Given the description of an element on the screen output the (x, y) to click on. 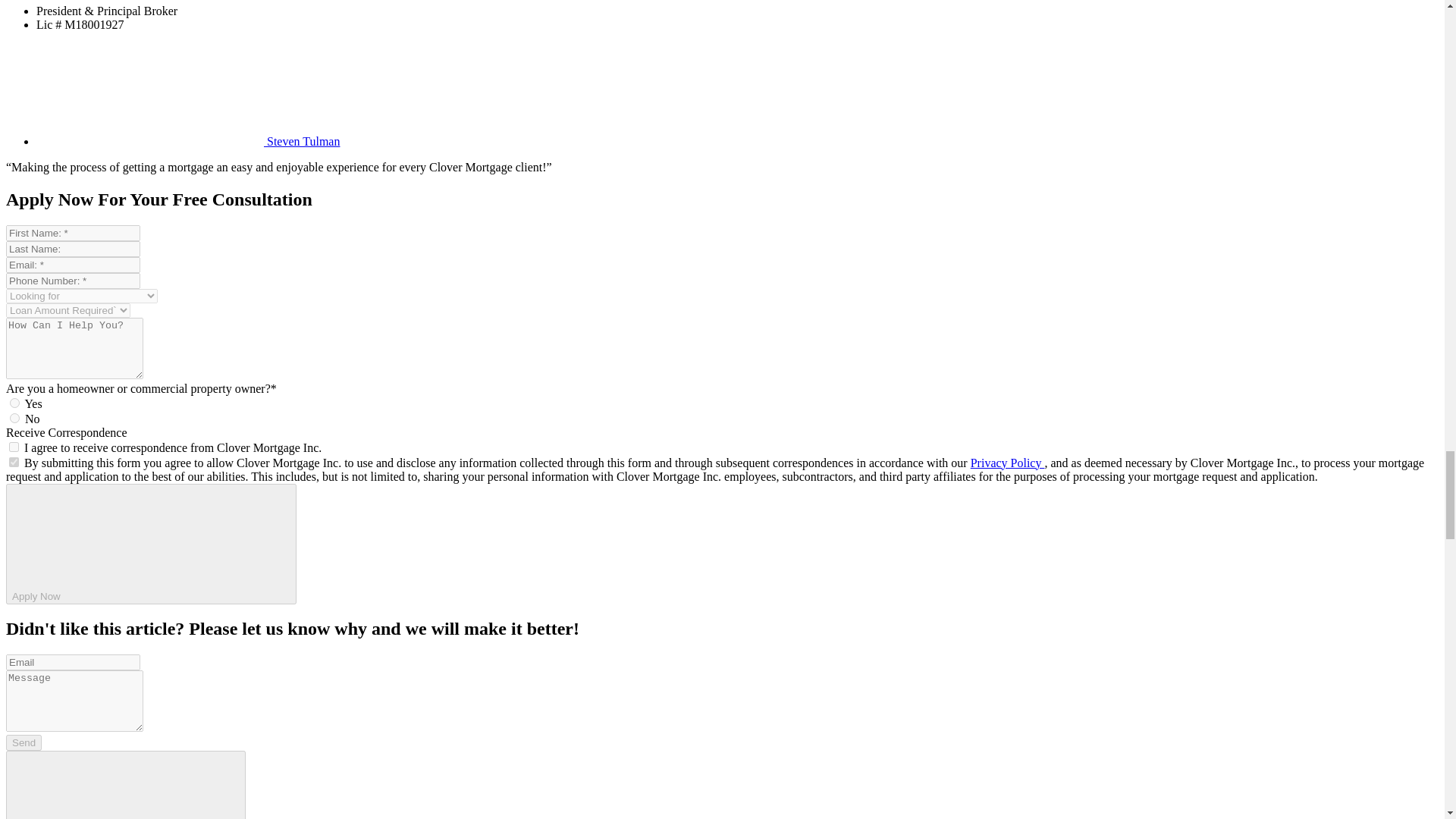
Yes (15, 402)
Yes (13, 461)
Yes (13, 447)
No (15, 418)
